Given the description of an element on the screen output the (x, y) to click on. 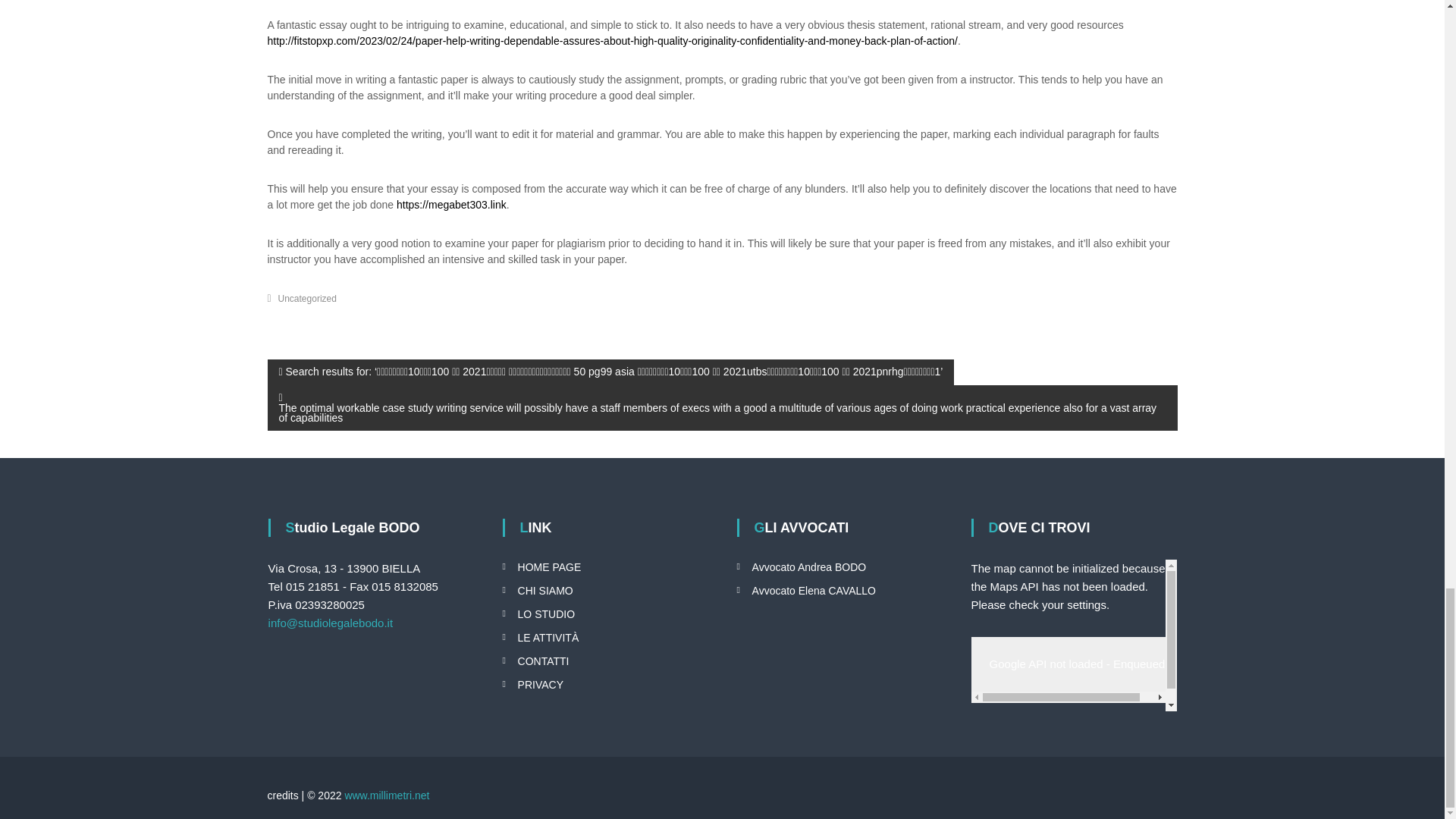
LO STUDIO (546, 613)
CHI SIAMO (545, 590)
HOME PAGE (549, 567)
Avvocato Elena CAVALLO (814, 590)
CONTATTI (543, 661)
Uncategorized (307, 298)
Avvocato Andrea BODO (809, 567)
PRIVACY (540, 684)
